Given the description of an element on the screen output the (x, y) to click on. 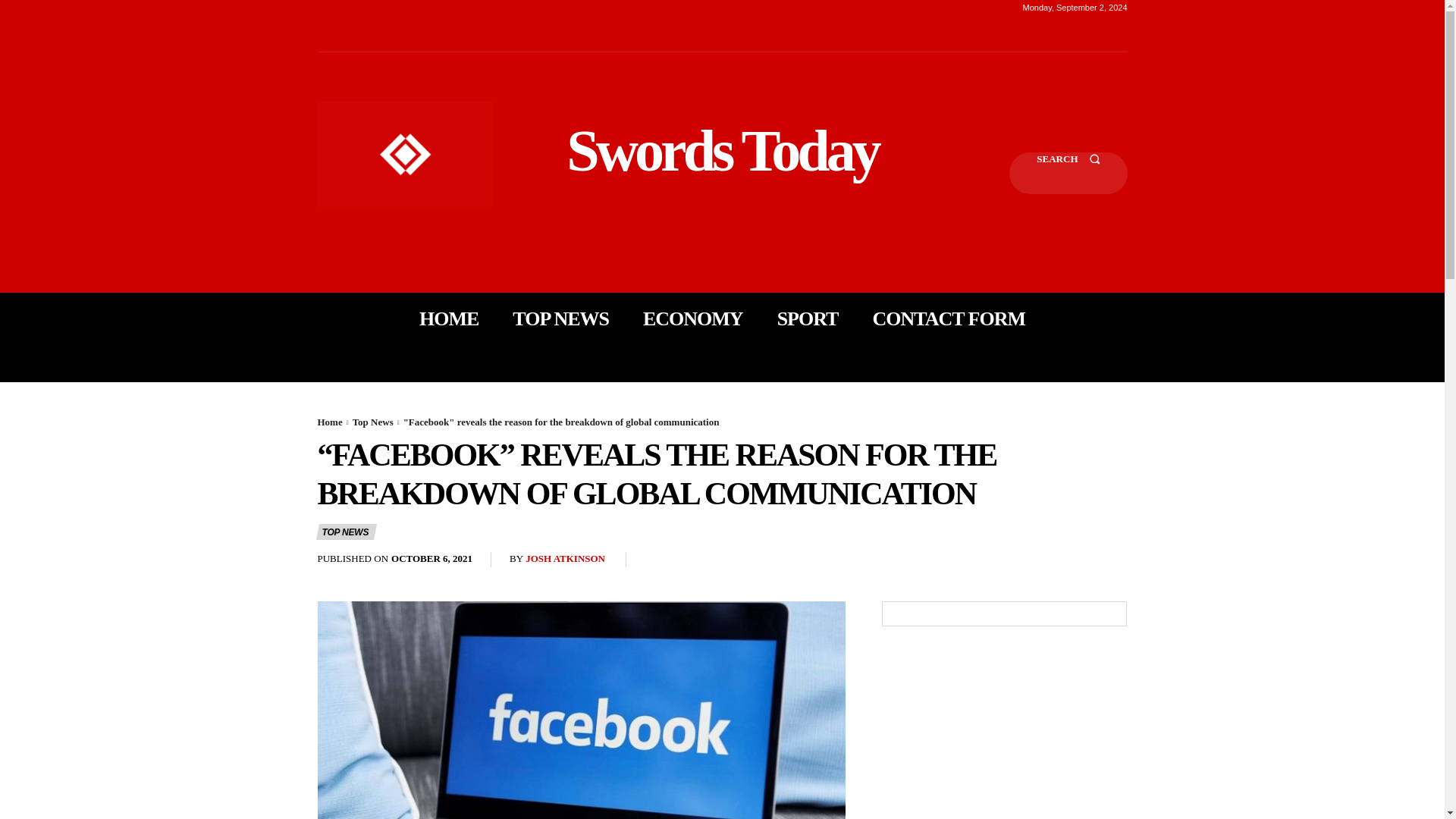
Search (1067, 173)
JOSH ATKINSON (565, 558)
TOP NEWS (560, 318)
TOP NEWS (345, 531)
ECONOMY (692, 318)
HOME (449, 318)
SPORT (807, 318)
Swords Today (722, 149)
View all posts in Top News (372, 421)
SEARCH (1067, 173)
